Given the description of an element on the screen output the (x, y) to click on. 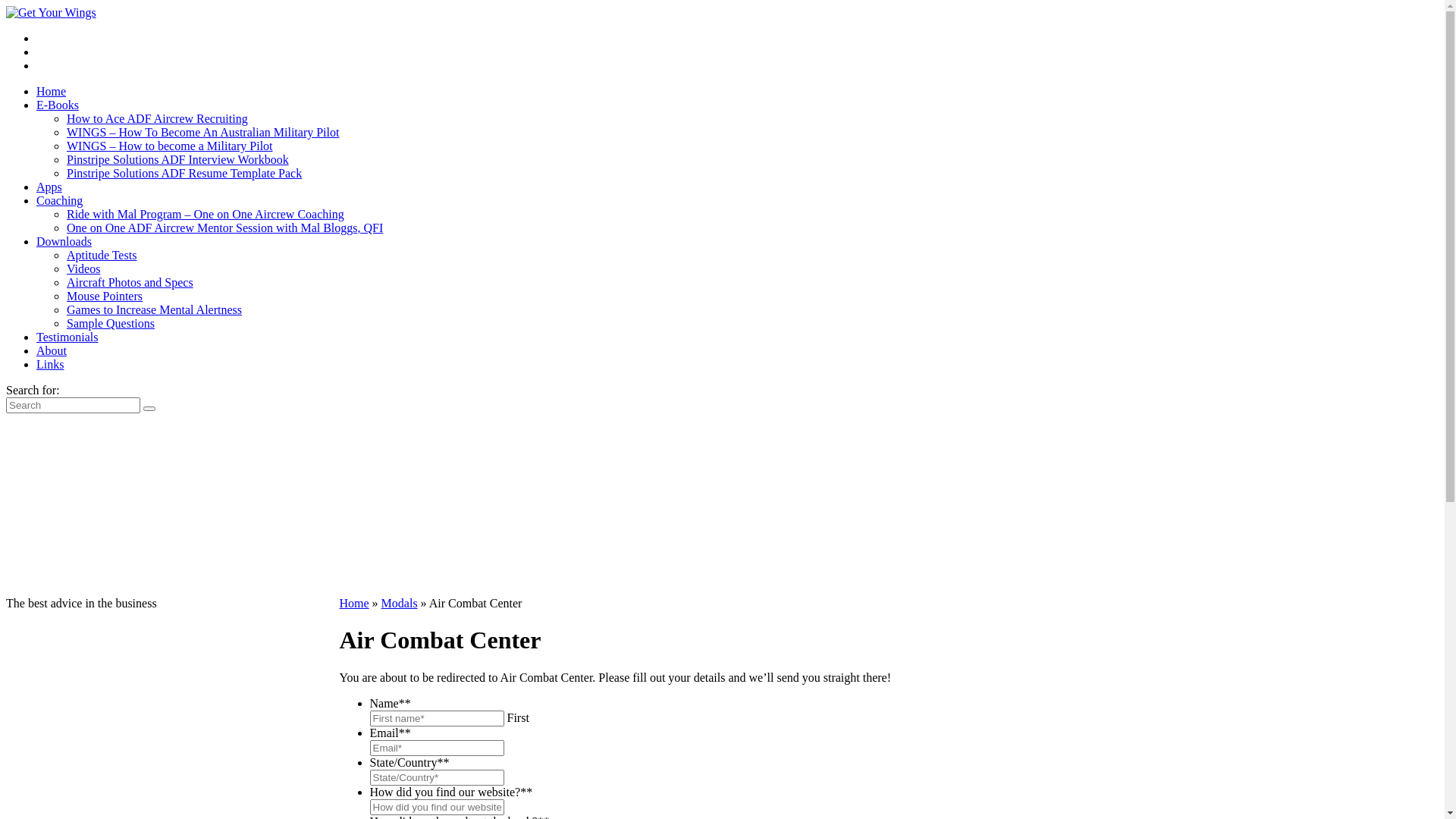
Home Element type: text (354, 602)
Videos Element type: text (83, 268)
How to Ace ADF Aircrew Recruiting Element type: text (156, 118)
Downloads Element type: text (63, 241)
Games to Increase Mental Alertness Element type: text (153, 309)
Coaching Element type: text (59, 200)
Sample Questions Element type: text (110, 322)
Links Element type: text (49, 363)
About Element type: text (51, 350)
Home Element type: text (50, 90)
Aptitude Tests Element type: text (101, 254)
Apps Element type: text (49, 186)
Pinstripe Solutions ADF Resume Template Pack Element type: text (183, 172)
Pinstripe Solutions ADF Interview Workbook Element type: text (177, 159)
One on One ADF Aircrew Mentor Session with Mal Bloggs, QFI Element type: text (224, 227)
Get Your Wings Element type: hover (51, 12)
Mouse Pointers Element type: text (104, 295)
Aircraft Photos and Specs Element type: text (129, 282)
Modals Element type: text (399, 602)
E-Books Element type: text (57, 104)
Testimonials Element type: text (67, 336)
